Given the description of an element on the screen output the (x, y) to click on. 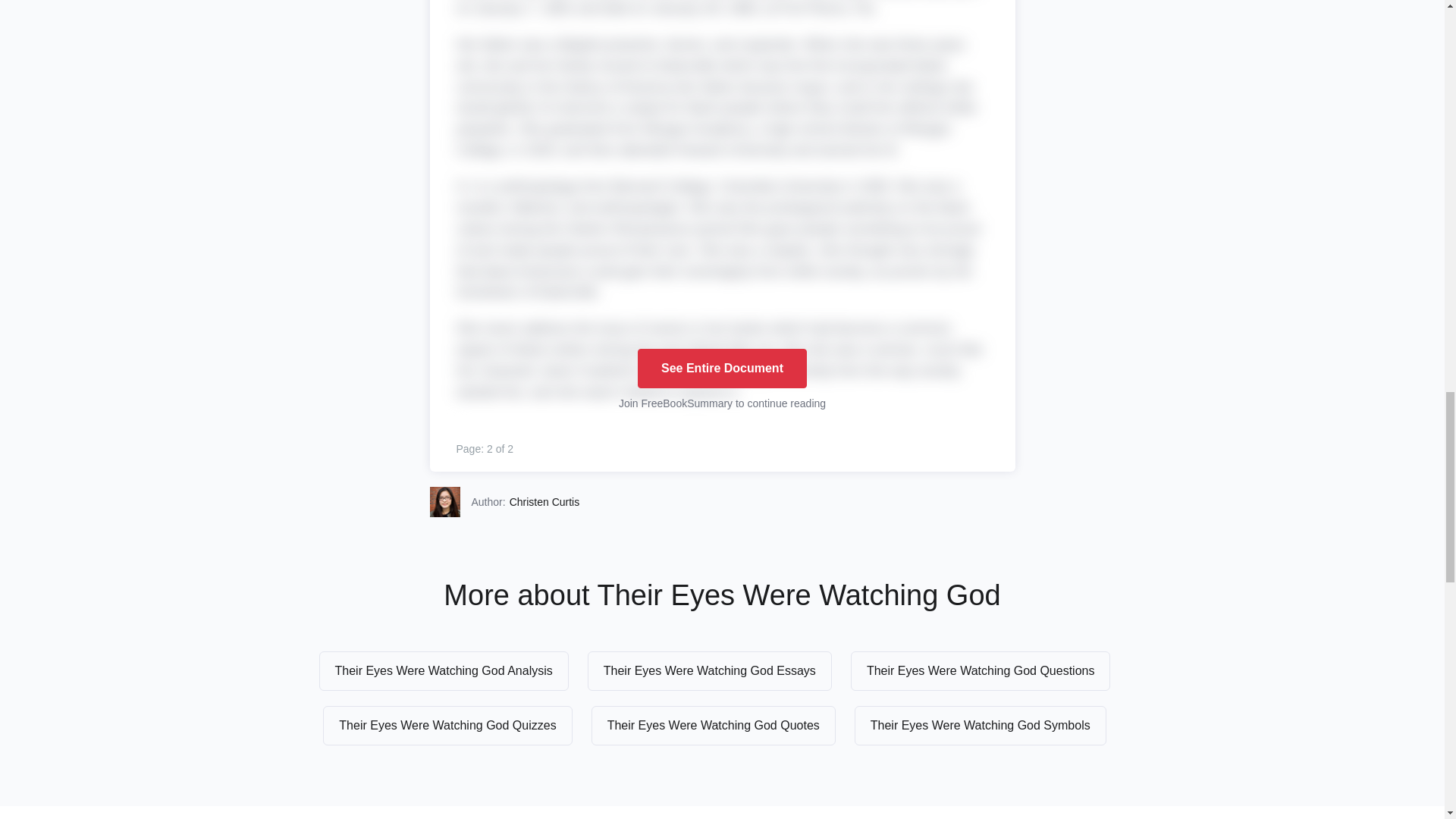
Their Eyes Were Watching God Quotes (713, 725)
Their Eyes Were Watching God Symbols (980, 725)
Their Eyes Were Watching God Quizzes (447, 725)
Their Eyes Were Watching God Analysis (443, 671)
Their Eyes Were Watching God Essays (709, 671)
Their Eyes Were Watching God Questions (980, 671)
